Given the description of an element on the screen output the (x, y) to click on. 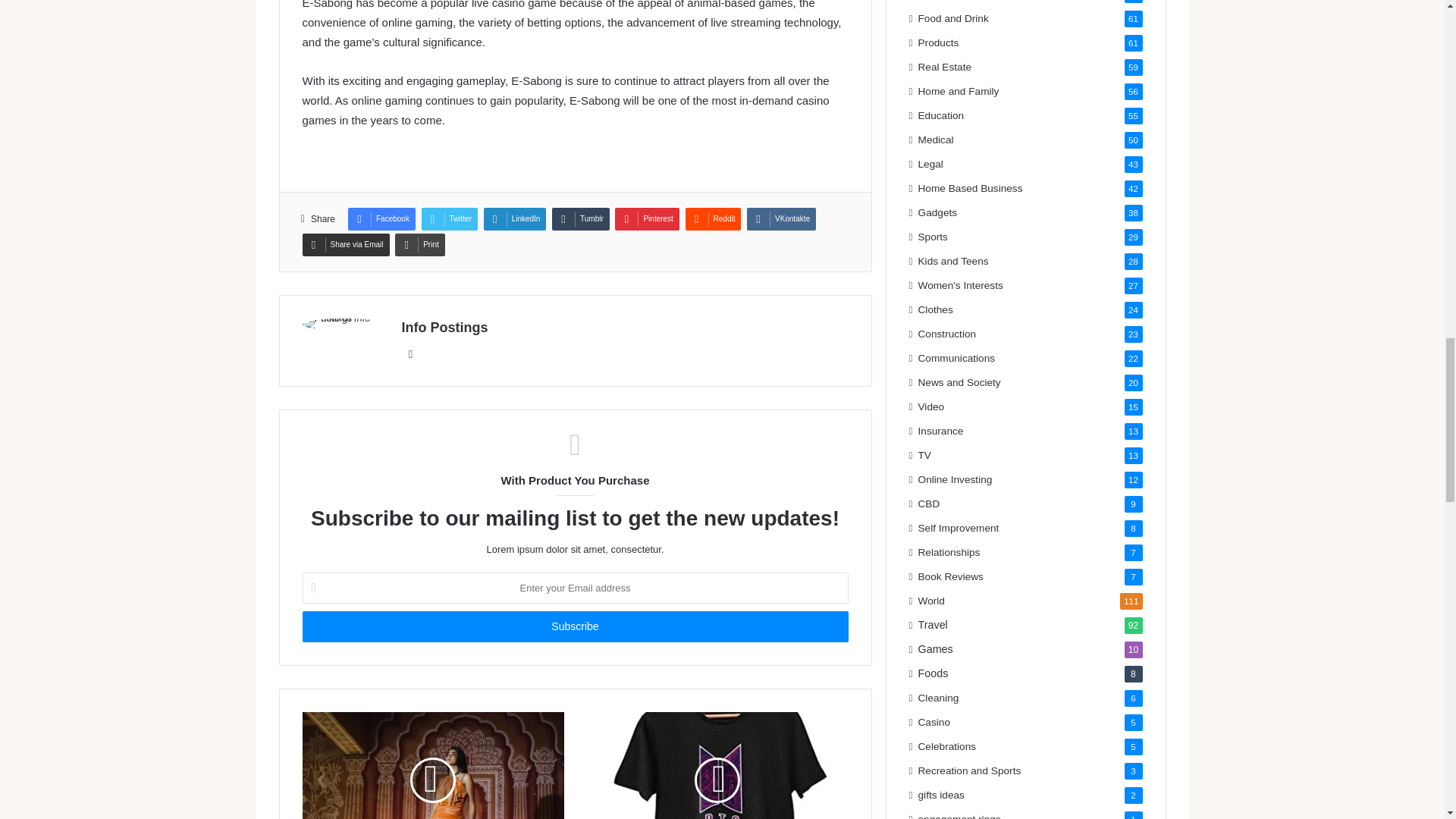
Twitter (449, 219)
Twitter (449, 219)
LinkedIn (515, 219)
Website (410, 353)
Facebook (380, 219)
Pinterest (646, 219)
Print (419, 244)
Reddit (713, 219)
Subscribe (574, 626)
Facebook (380, 219)
Tumblr (580, 219)
Info Postings (444, 327)
Subscribe (574, 626)
LinkedIn (515, 219)
Share via Email (344, 244)
